Given the description of an element on the screen output the (x, y) to click on. 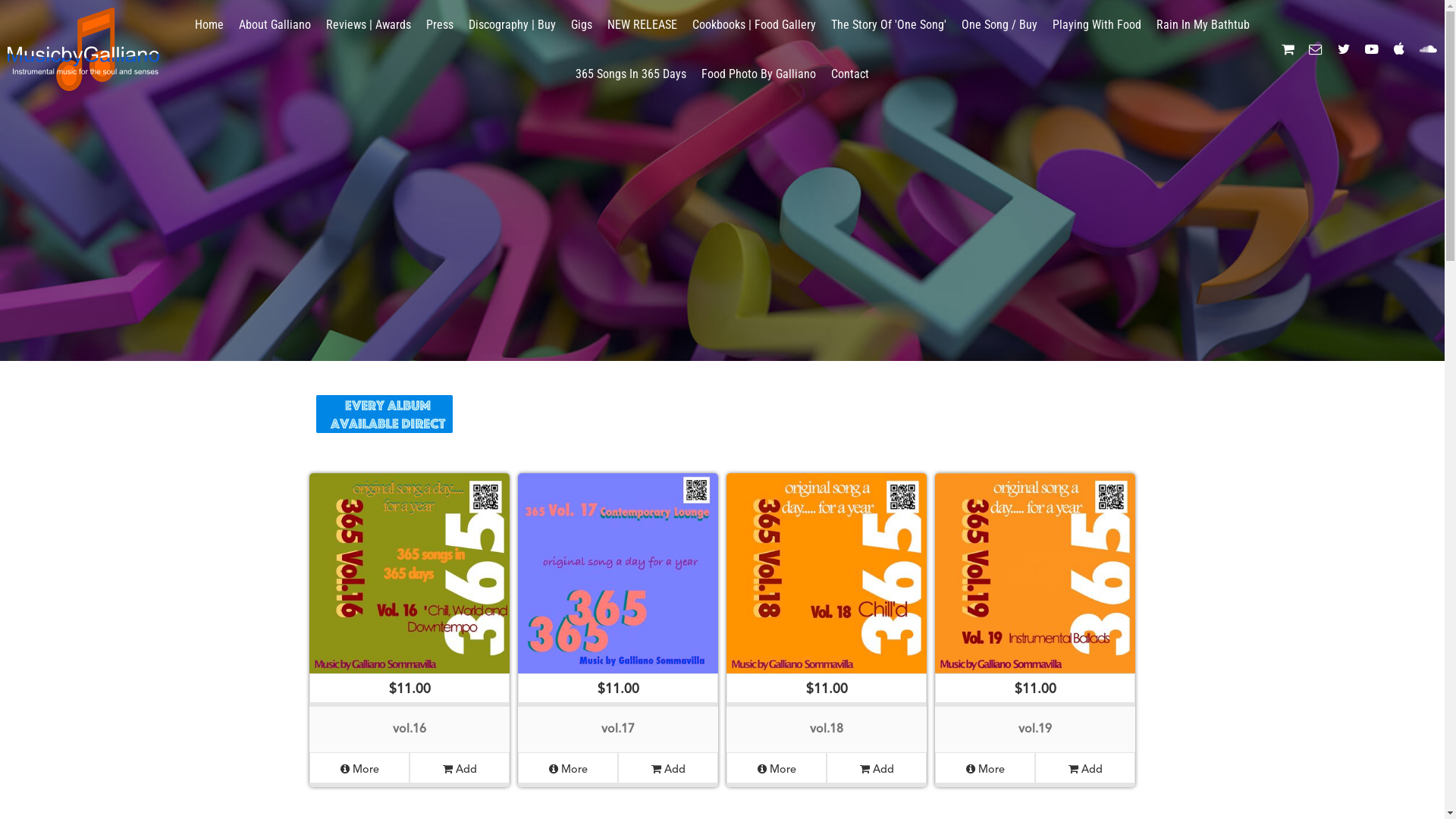
Discography | Buy Element type: text (512, 24)
Gigs Element type: text (581, 24)
One Song / Buy Element type: text (998, 24)
Contact Element type: text (849, 74)
$11.00 Element type: text (1035, 589)
Home Element type: text (209, 24)
$11.00 Element type: text (826, 589)
About Galliano Element type: text (274, 24)
Reviews | Awards Element type: text (368, 24)
$11.00 Element type: text (409, 589)
Food Photo By Galliano Element type: text (758, 74)
365 Songs In 365 Days Element type: text (630, 74)
The Story Of 'One Song' Element type: text (888, 24)
Playing With Food Element type: text (1096, 24)
$11.00 Element type: text (617, 589)
Cookbooks | Food Gallery Element type: text (753, 24)
Add To Cart Element type: text (31, 7)
NEW RELEASE Element type: text (641, 24)
Rain In My Bathtub Element type: text (1202, 24)
Press Element type: text (439, 24)
